Given the description of an element on the screen output the (x, y) to click on. 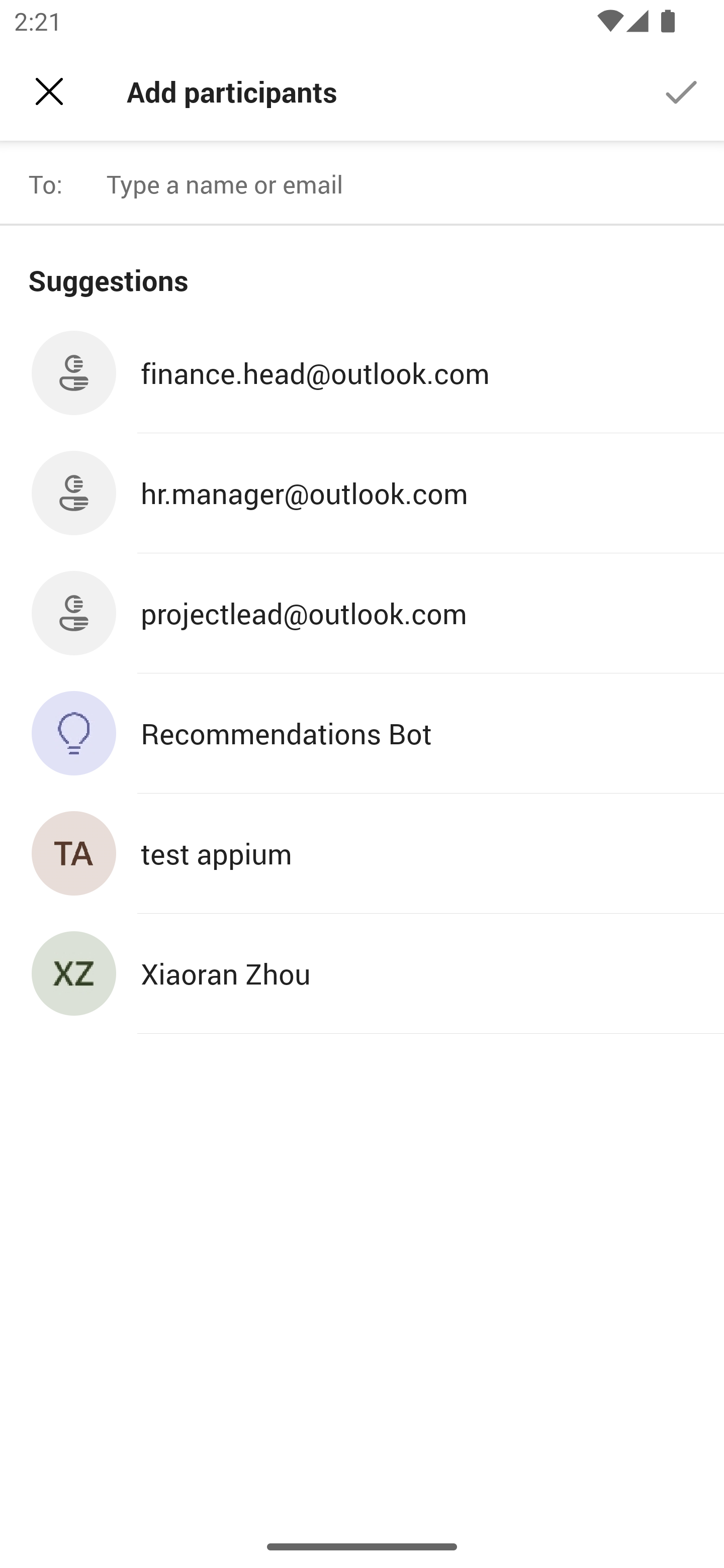
Back (49, 91)
Submit (681, 90)
Add users Type a name or email (407, 184)
